Given the description of an element on the screen output the (x, y) to click on. 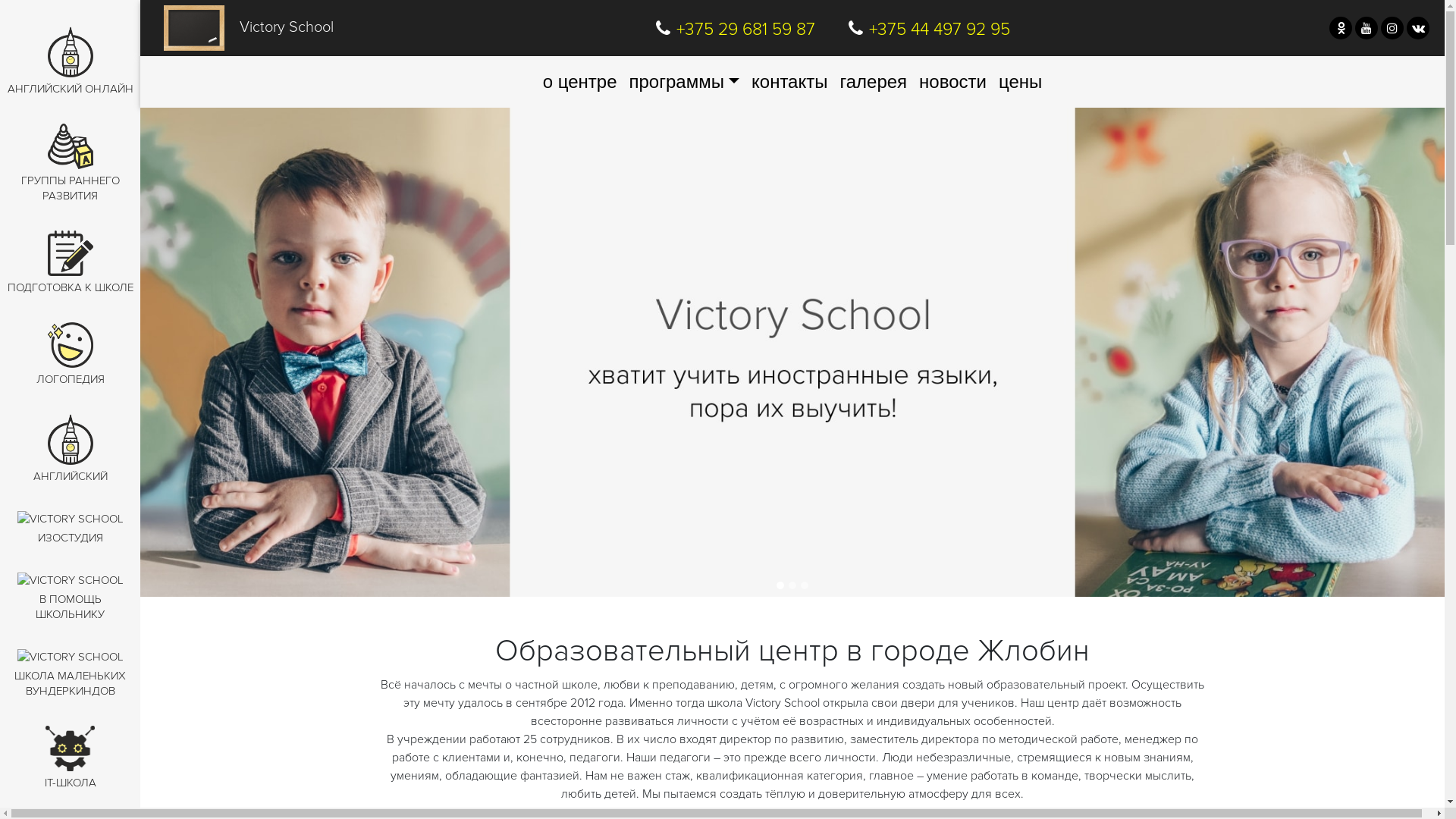
Next Element type: text (1346, 352)
Previous Element type: text (237, 352)
